Given the description of an element on the screen output the (x, y) to click on. 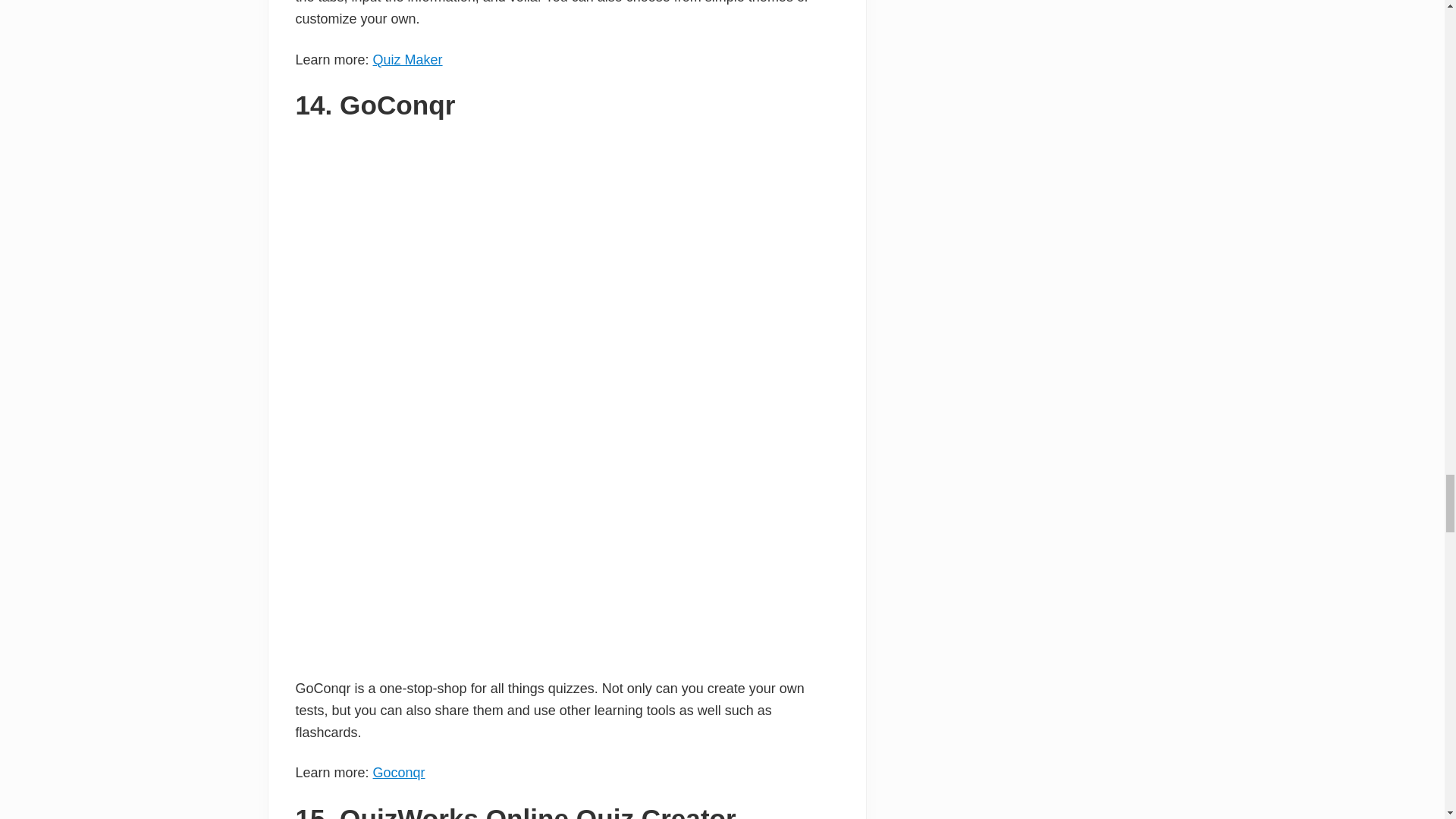
Quiz Maker (407, 59)
Goconqr (398, 772)
